Given the description of an element on the screen output the (x, y) to click on. 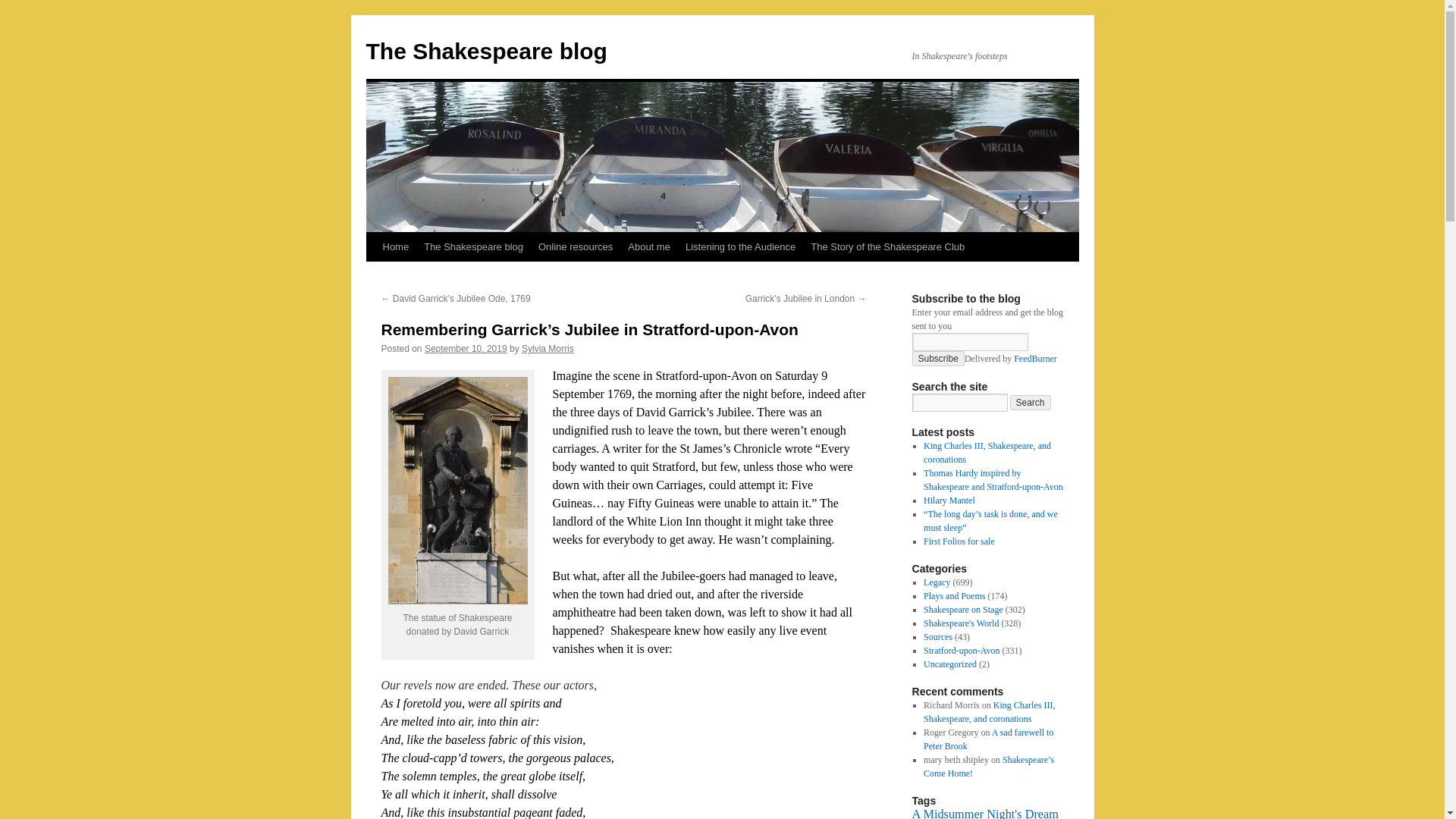
The Shakespeare blog (473, 246)
Home (395, 246)
Subscribe (937, 358)
Search (1030, 402)
Online resources (575, 246)
3:30 pm (465, 348)
The Shakespeare blog (486, 50)
King Charles III, Shakespeare, and coronations (987, 452)
September 10, 2019 (465, 348)
About me (649, 246)
FeedBurner (1035, 357)
Search (1030, 402)
Listening to the Audience (740, 246)
View all posts by Sylvia Morris (547, 348)
Sylvia Morris (547, 348)
